Given the description of an element on the screen output the (x, y) to click on. 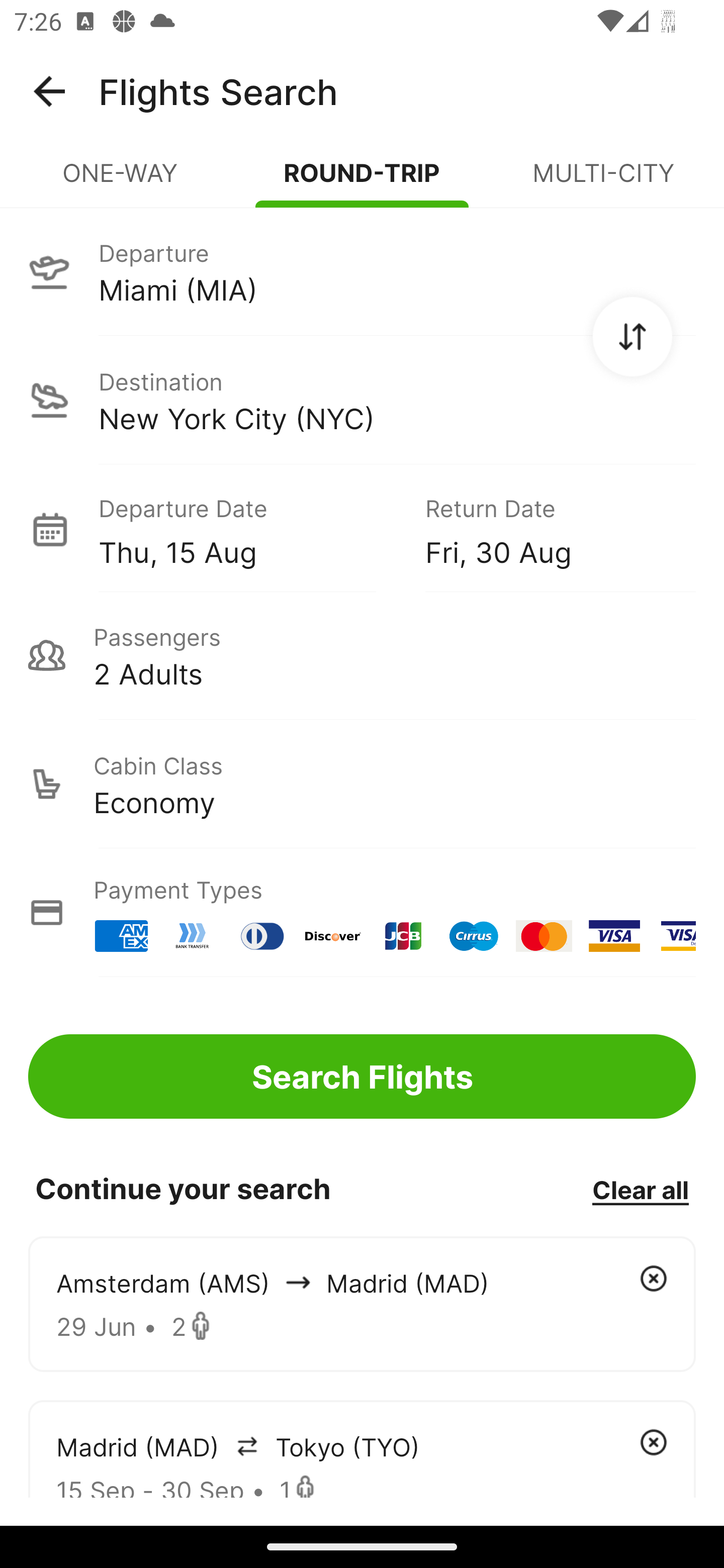
ONE-WAY (120, 180)
ROUND-TRIP (361, 180)
MULTI-CITY (603, 180)
Departure Miami (MIA) (362, 270)
Destination New York City (NYC) (362, 400)
Departure Date Thu, 15 Aug (247, 528)
Return Date Fri, 30 Aug (546, 528)
Passengers 2 Adults (362, 655)
Cabin Class Economy (362, 783)
Payment Types (362, 912)
Search Flights (361, 1075)
Clear all (640, 1189)
